Given the description of an element on the screen output the (x, y) to click on. 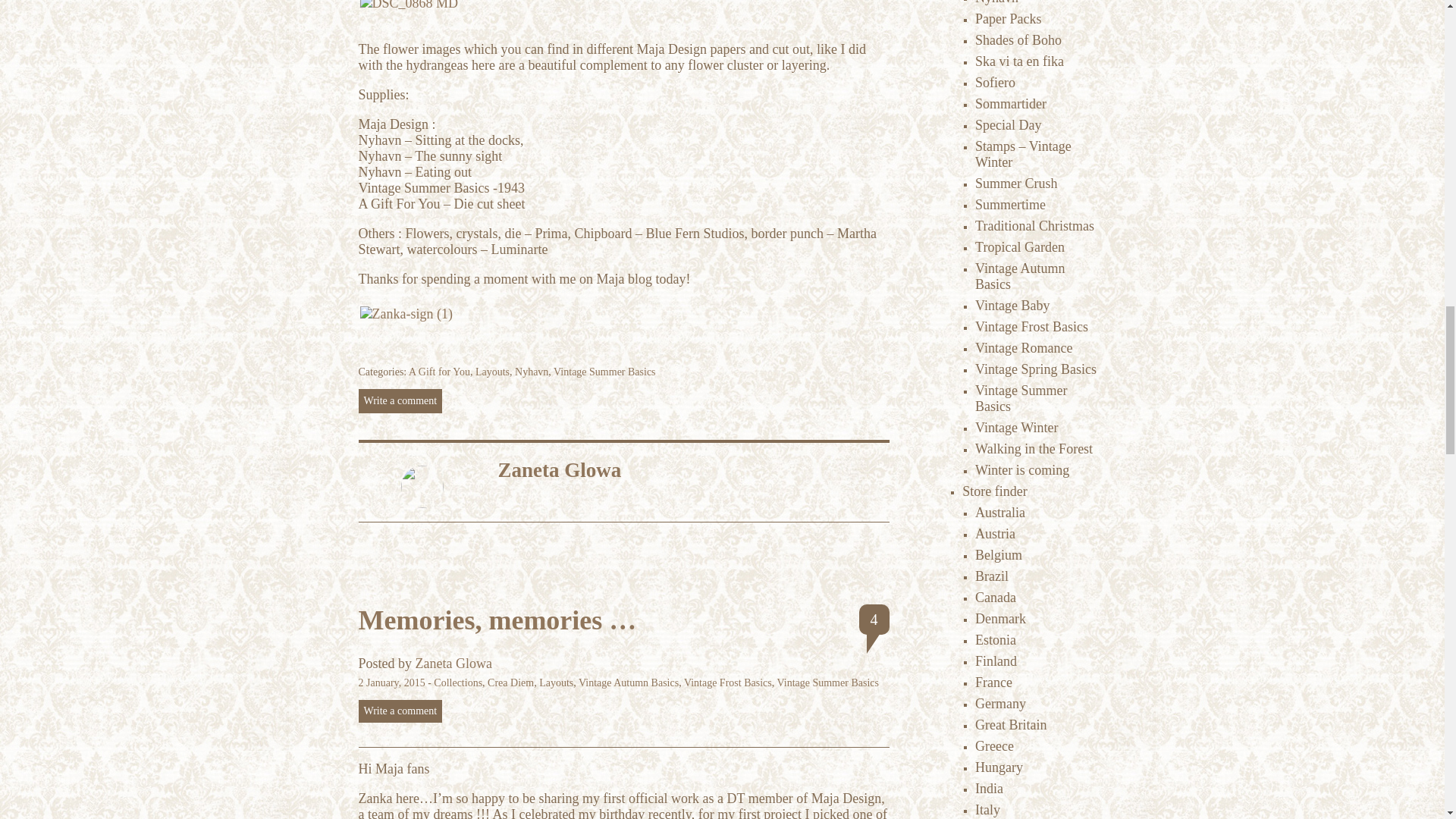
Comment (400, 711)
Layouts (492, 371)
A Gift for You (439, 371)
Comment (400, 401)
Comments (873, 619)
